Given the description of an element on the screen output the (x, y) to click on. 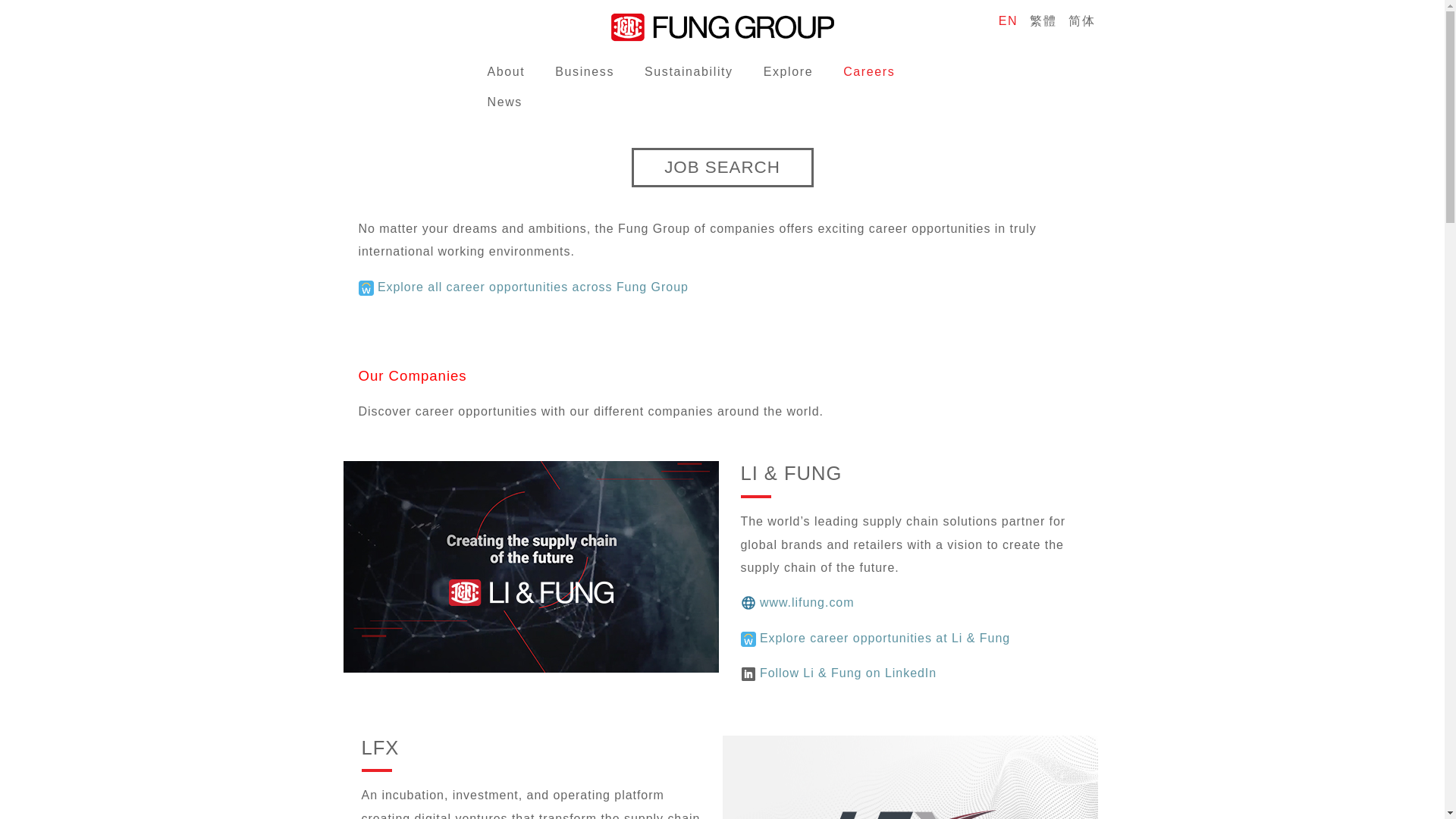
EN (1007, 20)
About (505, 71)
